Given the description of an element on the screen output the (x, y) to click on. 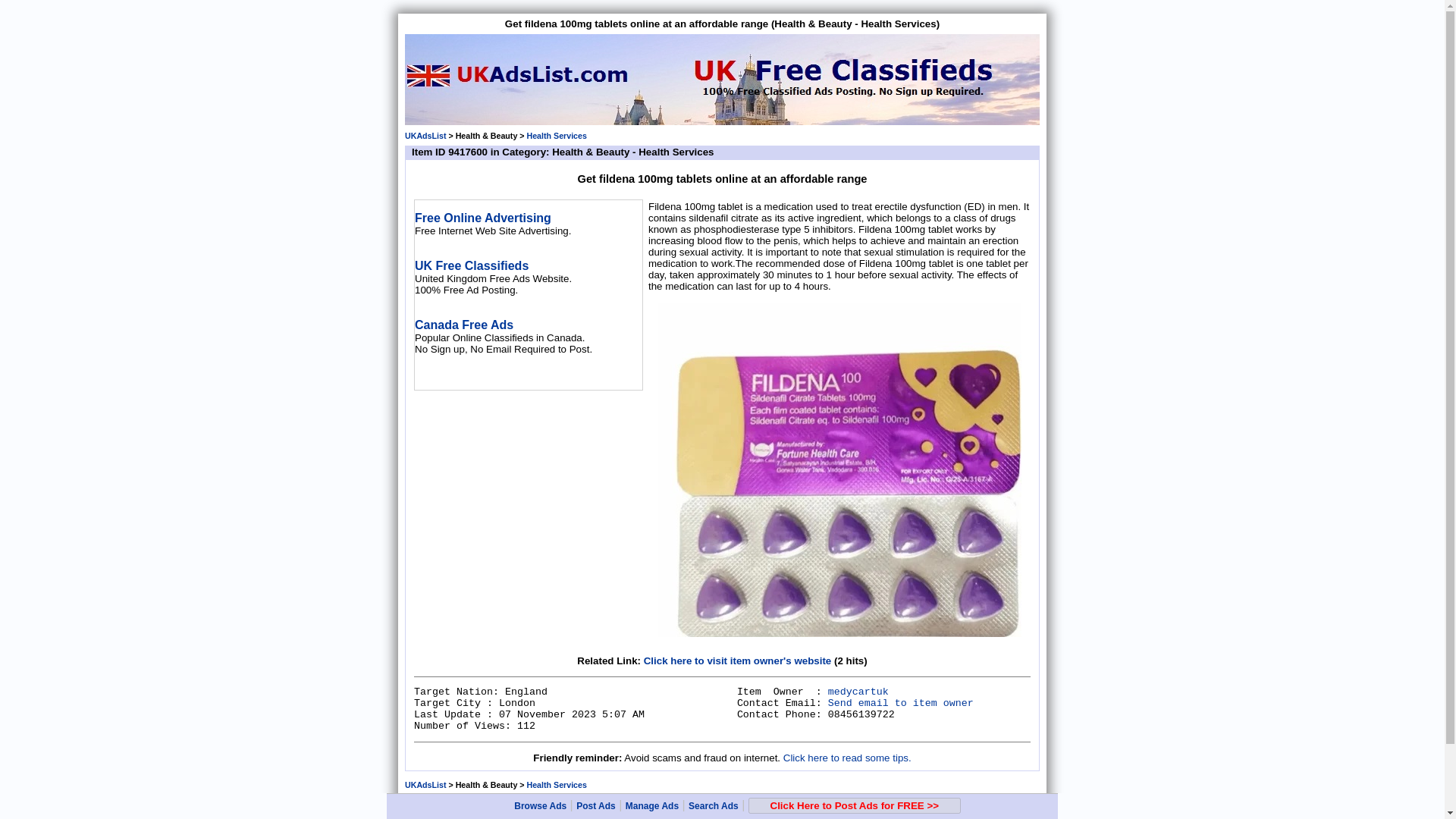
UKAdsList (424, 784)
Canada Free Ads (463, 324)
Free Online Advertising (482, 217)
Go Back to UKAdsList.com Home Page (424, 784)
USNetAds.com (519, 818)
AUNetAds.com (666, 818)
Privacy Statement (999, 803)
GetJob.us (566, 818)
CNNetAds.com (770, 818)
Health Services (555, 784)
